Given the description of an element on the screen output the (x, y) to click on. 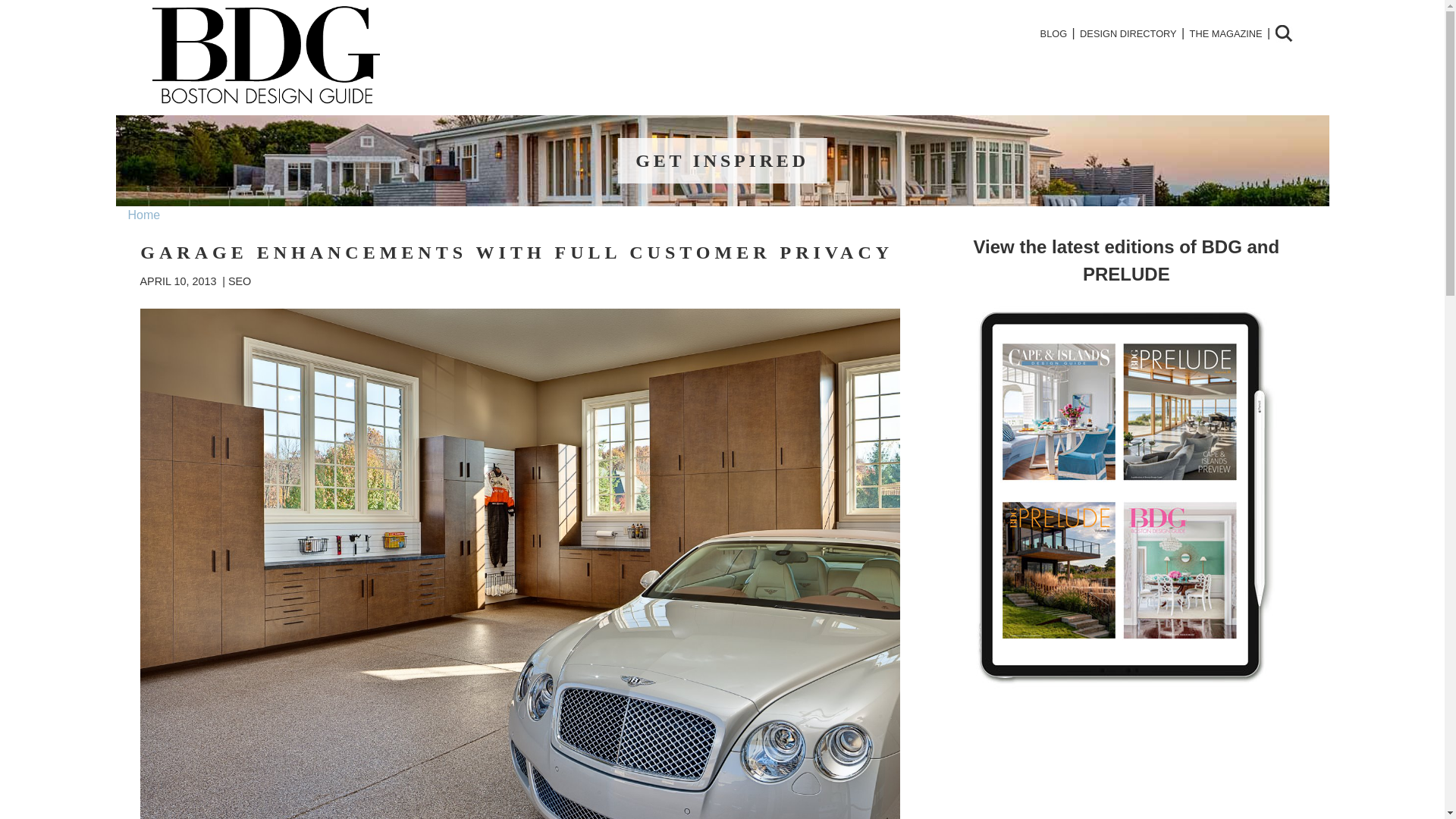
DESIGN DIRECTORY (1127, 33)
BLOG (1053, 33)
Return to the Boston Design Guide home page (264, 99)
Home (144, 214)
THE MAGAZINE (1225, 33)
SEARCH (1283, 33)
